Given the description of an element on the screen output the (x, y) to click on. 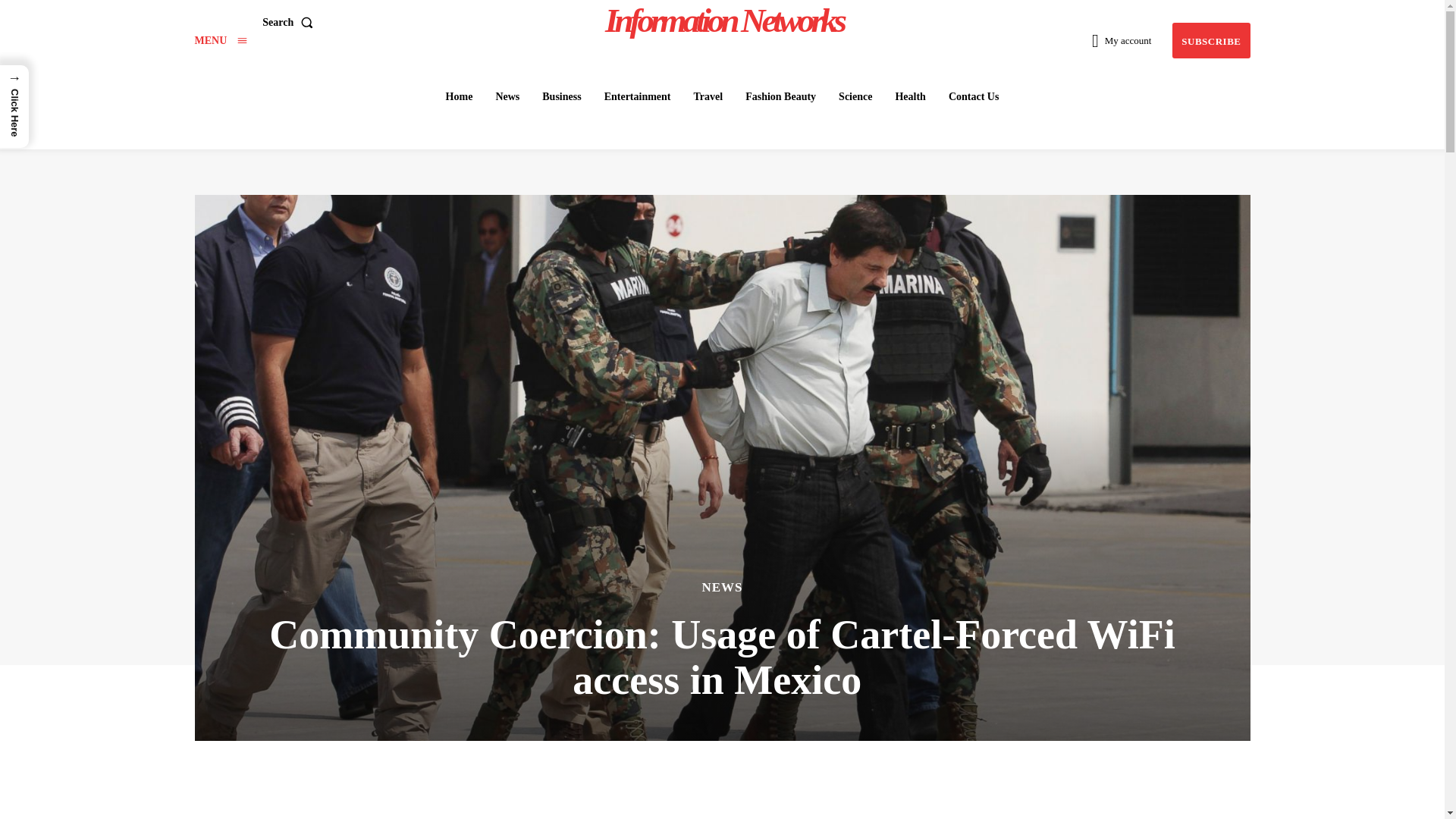
Entertainment (637, 97)
Menu (220, 40)
News (507, 97)
Home (459, 97)
Advertisement (722, 795)
Subscribe (1210, 40)
Information Networks (724, 20)
Business (561, 97)
MENU (220, 40)
SUBSCRIBE (1210, 40)
